Given the description of an element on the screen output the (x, y) to click on. 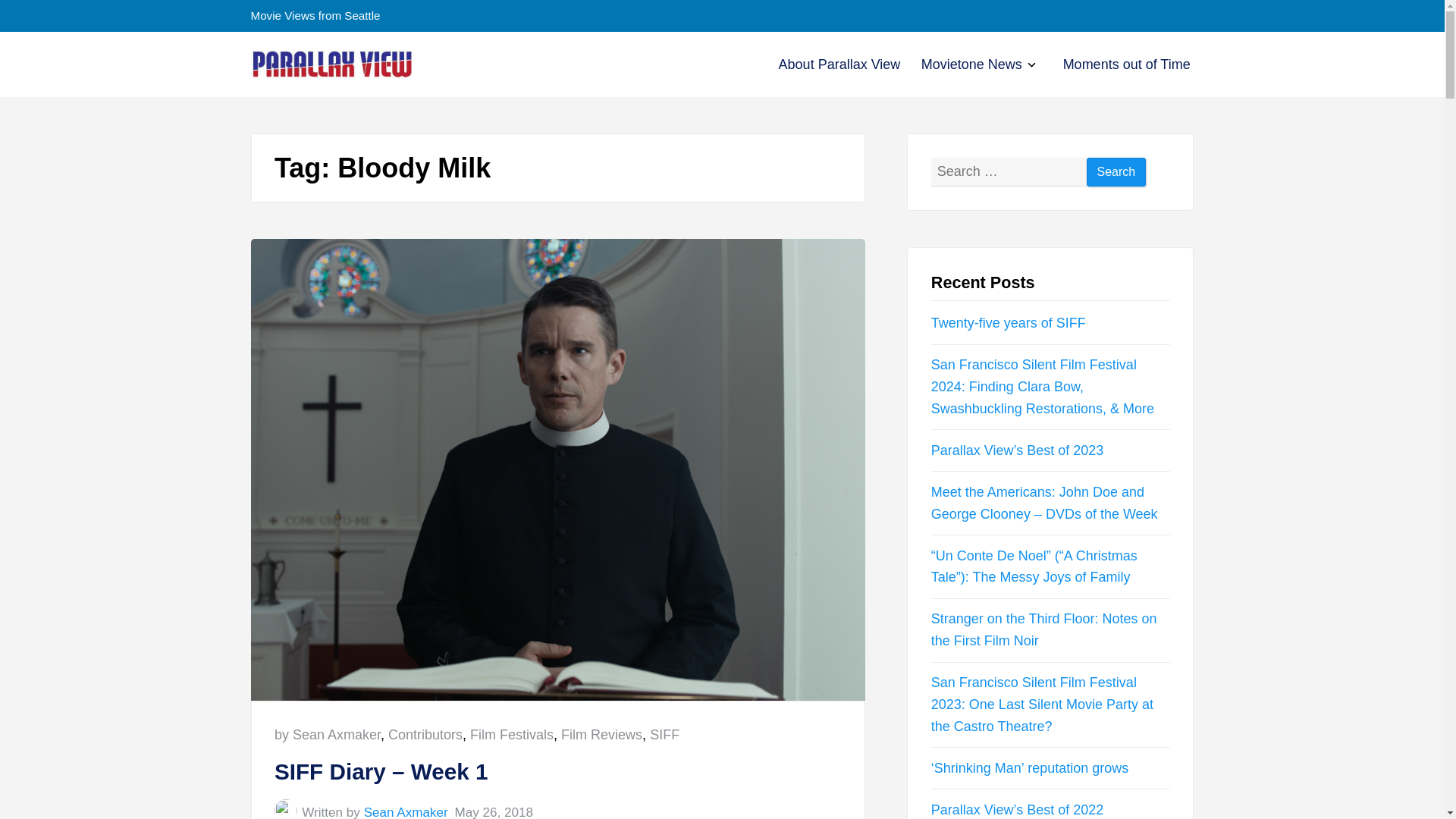
by Sean Axmaker (327, 734)
Stranger on the Third Floor: Notes on the First Film Noir (1044, 629)
About Parallax View (839, 64)
Twenty-five years of SIFF (1029, 66)
Film Reviews (1008, 322)
May 26, 2018 (601, 734)
Sean Axmaker (494, 812)
Search (406, 812)
